Given the description of an element on the screen output the (x, y) to click on. 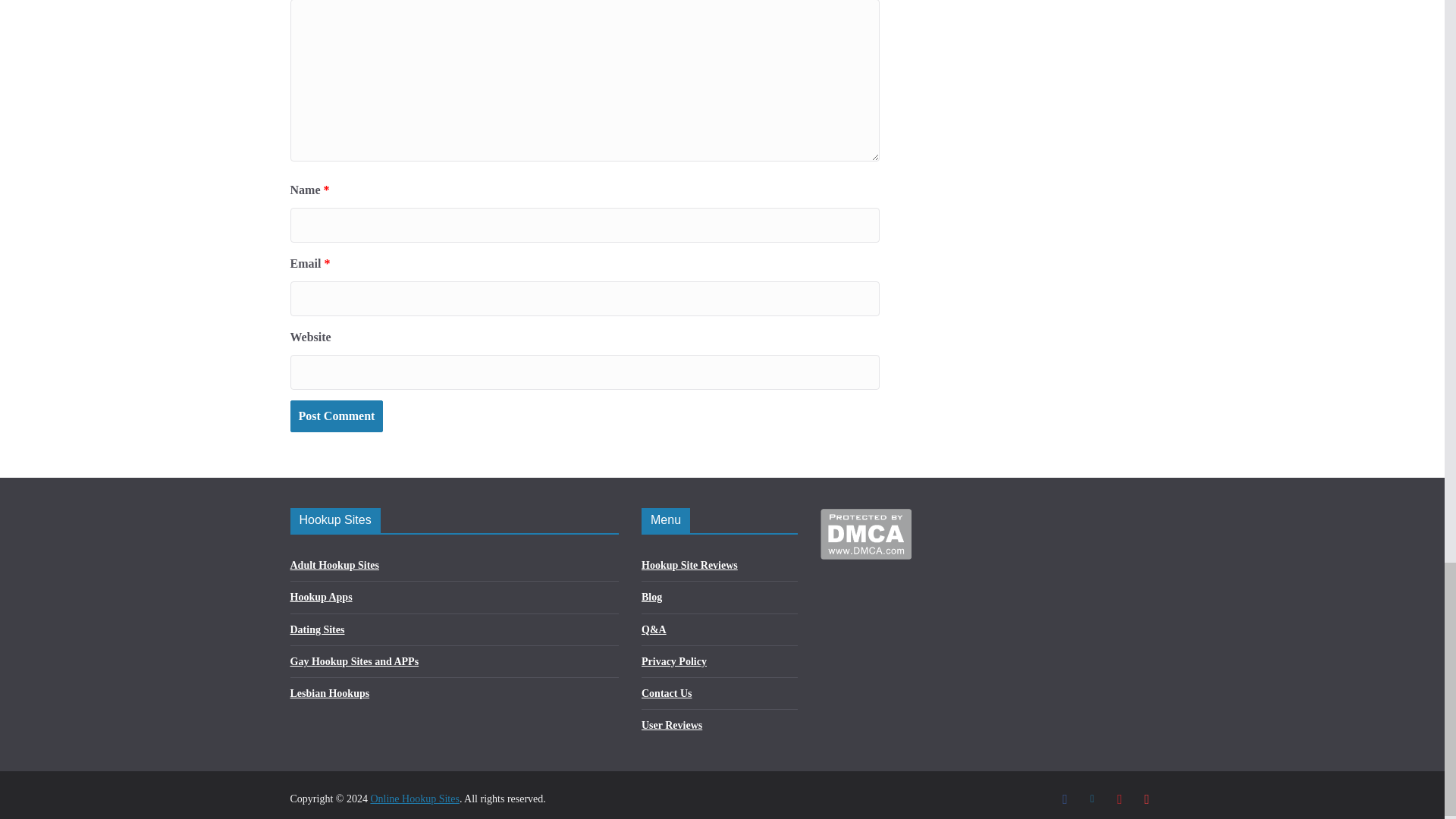
Post Comment (335, 416)
Post Comment (335, 416)
Online Hookup Sites (413, 798)
DMCA.com Protection Status (866, 517)
